Given the description of an element on the screen output the (x, y) to click on. 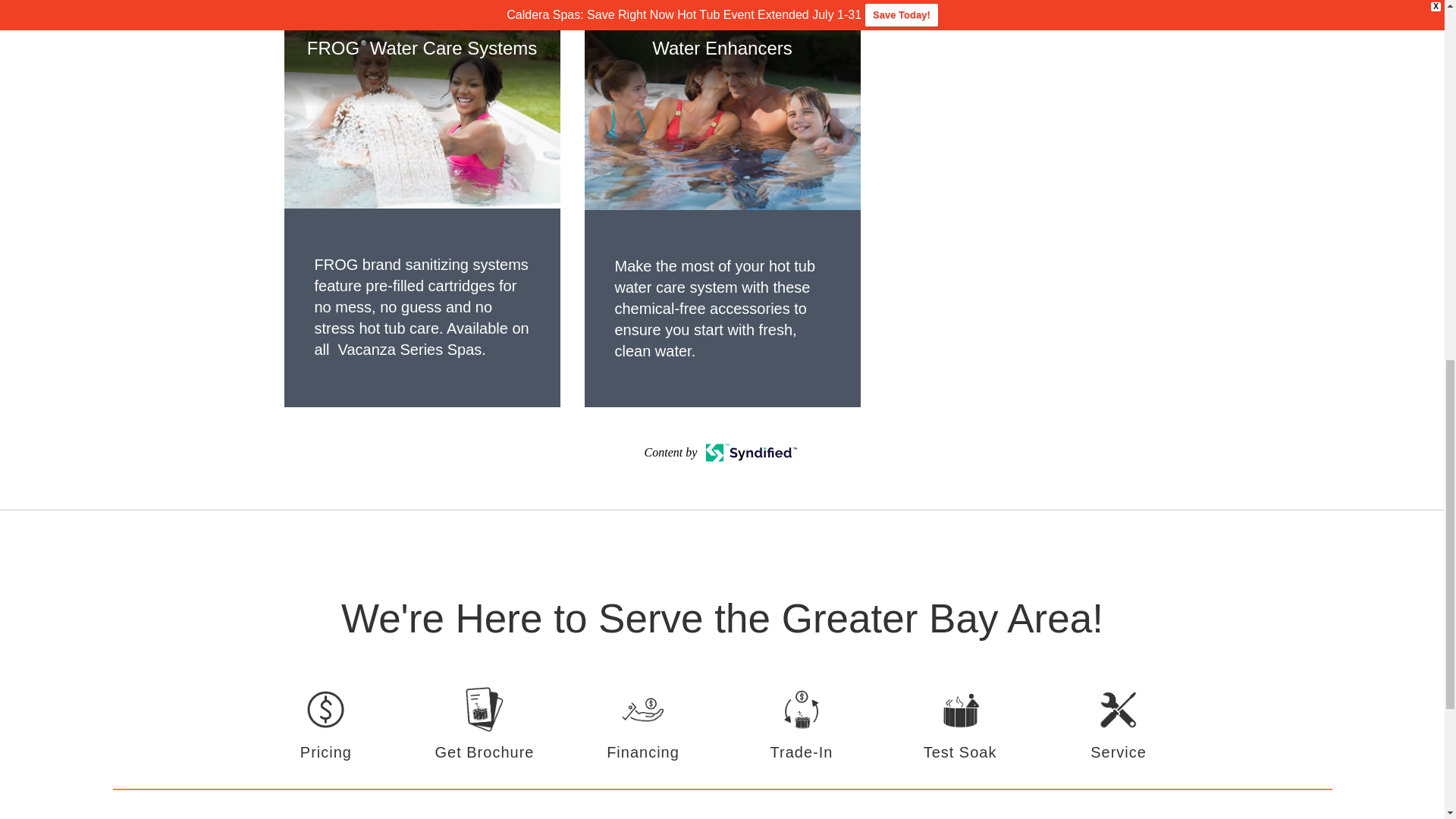
icon-Pricing-dark (325, 725)
icon-Service-dark (1118, 725)
icon-Test-Soak-dark (960, 725)
icon-Brochure-dark (483, 725)
icon-Financing-dark (643, 725)
icon-Trade-In-dark (801, 725)
